Given the description of an element on the screen output the (x, y) to click on. 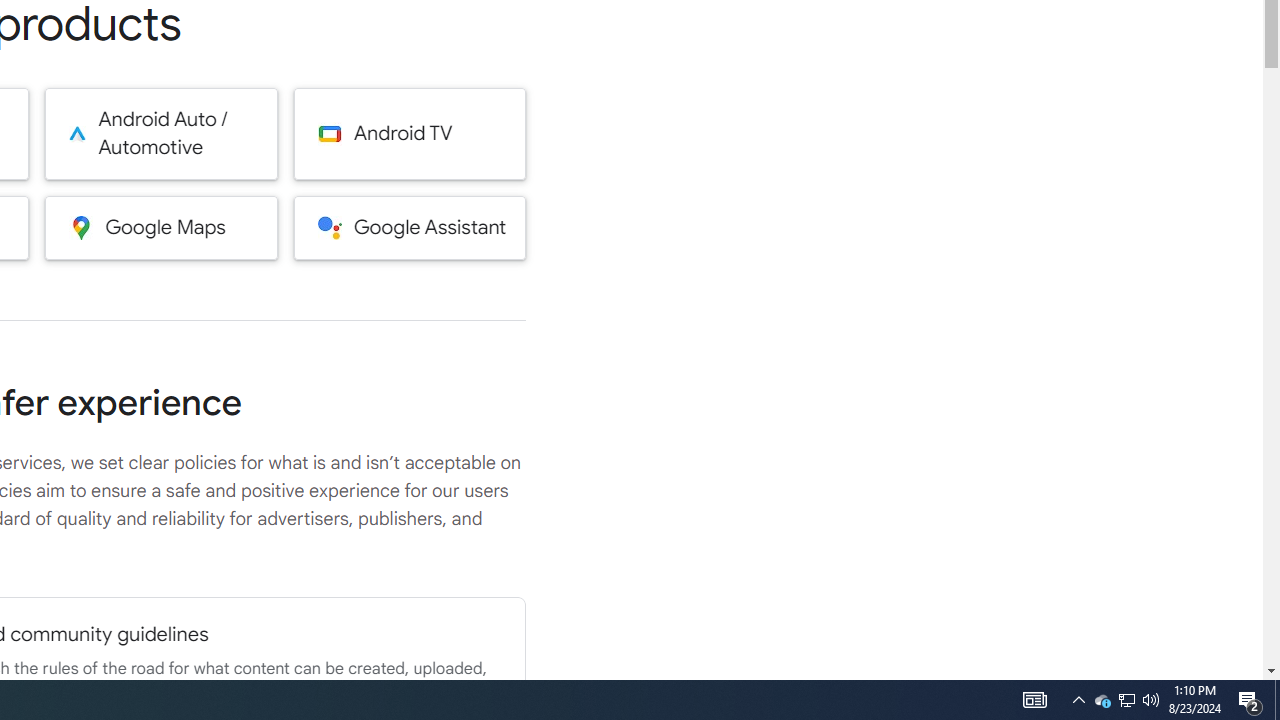
Android TV (410, 133)
Android Auto / Automotive (160, 133)
Google Maps (160, 227)
Google Assistant (410, 227)
